Given the description of an element on the screen output the (x, y) to click on. 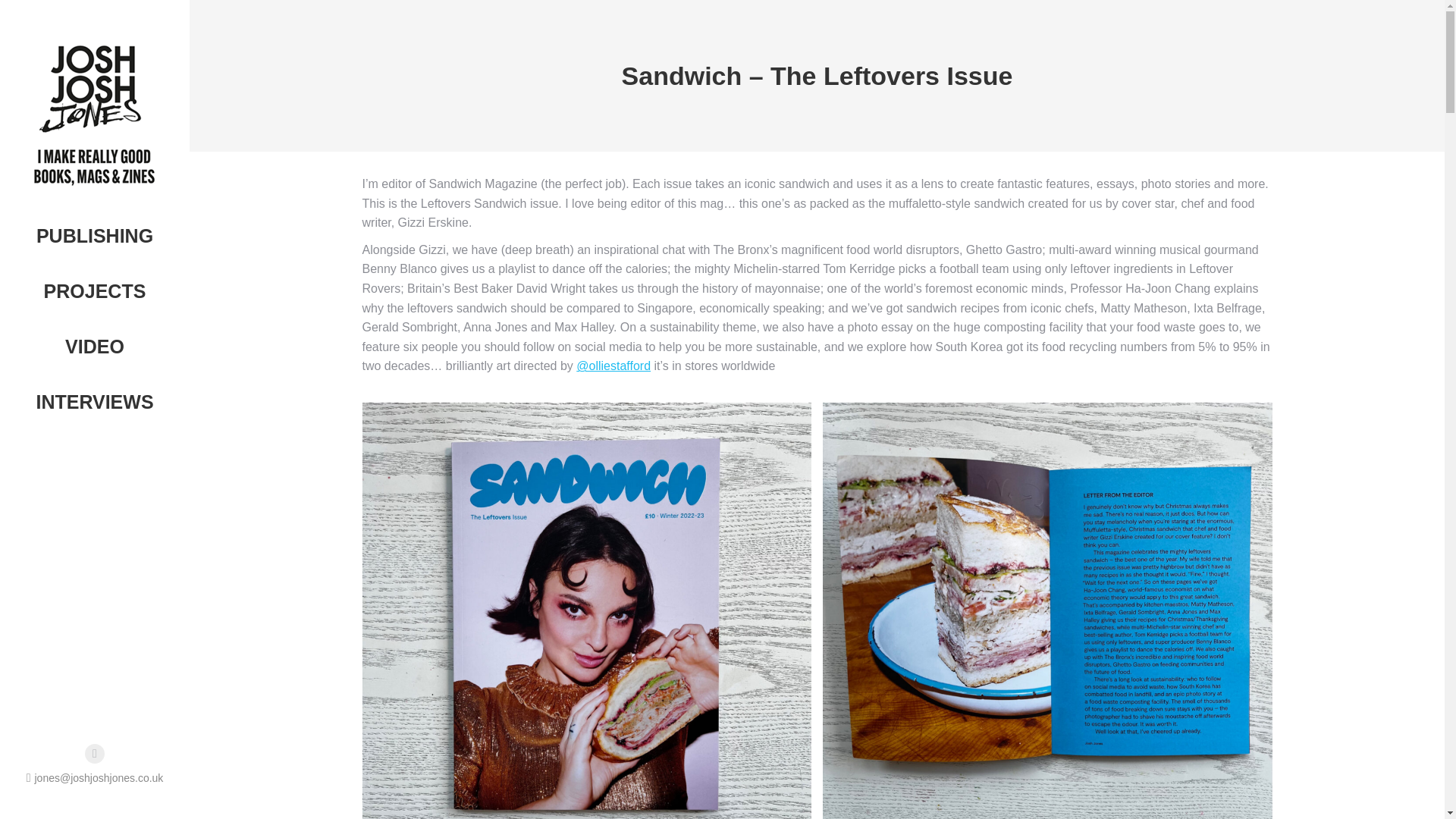
PUBLISHING (94, 235)
INTERVIEWS (94, 402)
PROJECTS (94, 291)
Instagram page opens in new window (94, 753)
Instagram page opens in new window (94, 753)
VIDEO (94, 346)
